Given the description of an element on the screen output the (x, y) to click on. 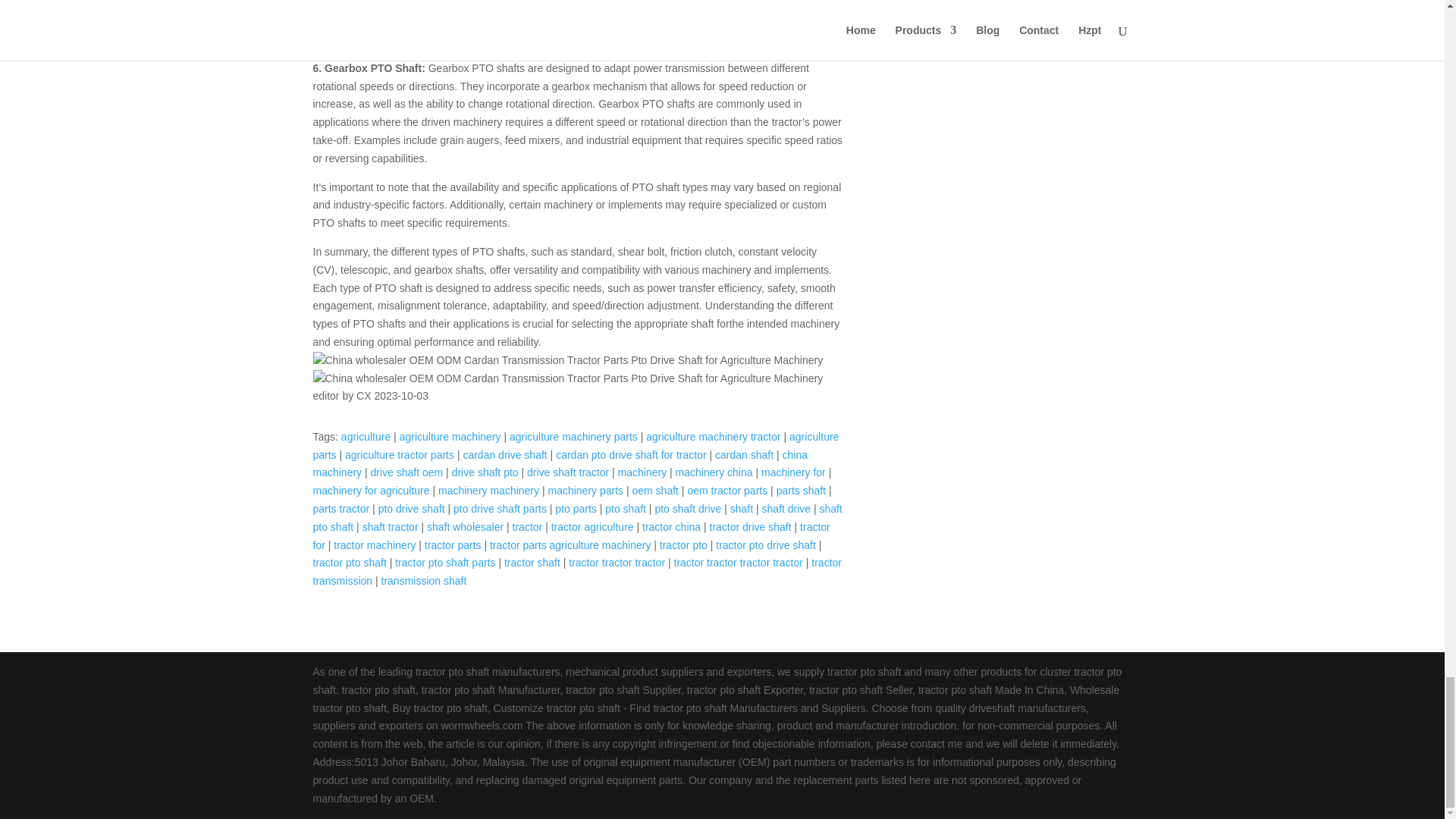
machinery china (713, 472)
agriculture machinery (449, 436)
pto parts (574, 508)
machinery for agriculture (371, 490)
cardan pto drive shaft for tractor (631, 454)
drive shaft pto (484, 472)
drive shaft tractor (567, 472)
agriculture machinery parts (573, 436)
china machinery (559, 463)
agriculture (365, 436)
